Given the description of an element on the screen output the (x, y) to click on. 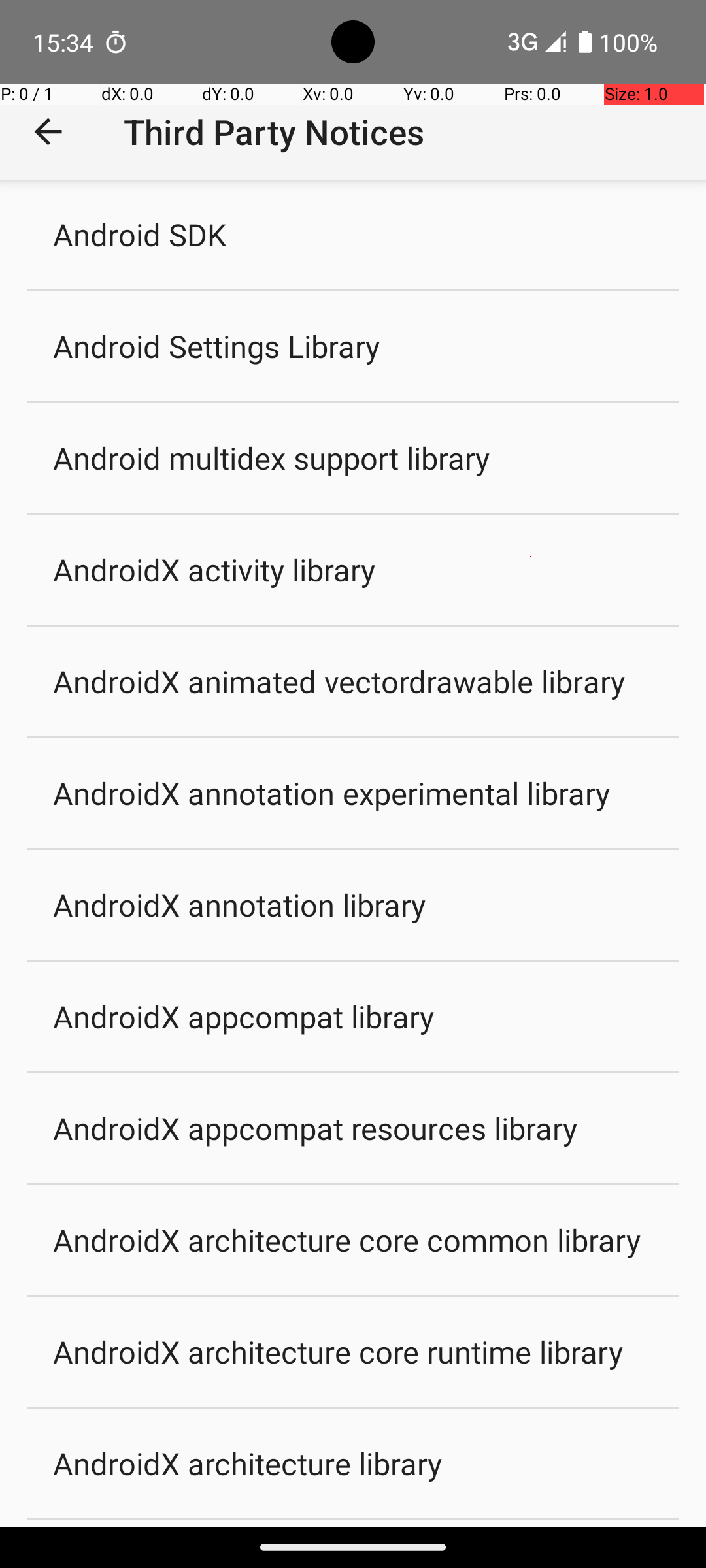
Third Party Notices Element type: android.widget.TextView (273, 131)
Android SDK Element type: android.widget.TextView (139, 233)
Android Settings Library Element type: android.widget.TextView (216, 345)
Android multidex support library Element type: android.widget.TextView (271, 457)
AndroidX activity library Element type: android.widget.TextView (213, 568)
AndroidX animated vectordrawable library Element type: android.widget.TextView (338, 680)
AndroidX annotation experimental library Element type: android.widget.TextView (331, 792)
AndroidX annotation library Element type: android.widget.TextView (239, 904)
AndroidX appcompat library Element type: android.widget.TextView (243, 1015)
AndroidX appcompat resources library Element type: android.widget.TextView (314, 1127)
AndroidX architecture core common library Element type: android.widget.TextView (346, 1239)
AndroidX architecture core runtime library Element type: android.widget.TextView (337, 1351)
AndroidX architecture library Element type: android.widget.TextView (247, 1462)
